Given the description of an element on the screen output the (x, y) to click on. 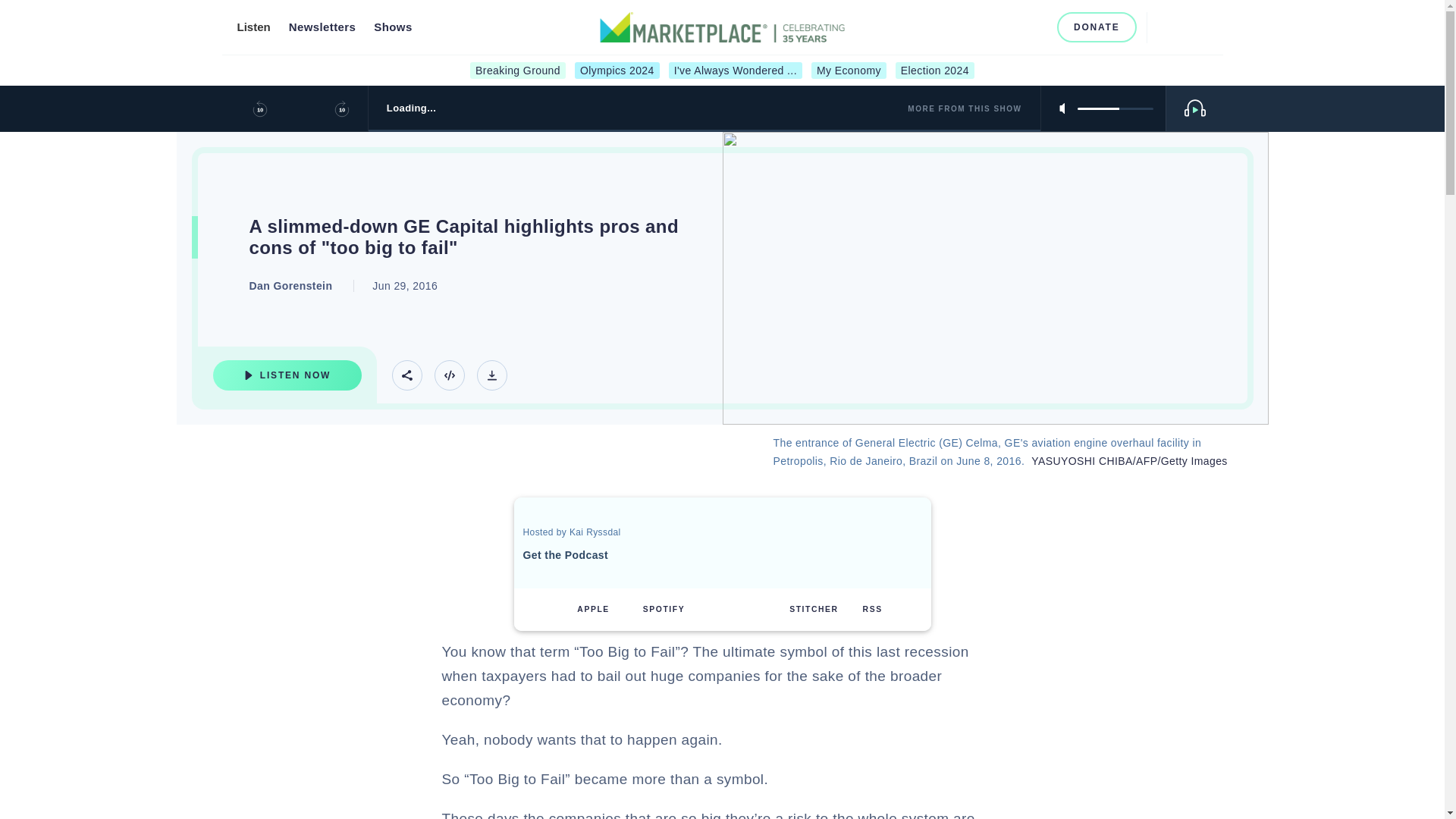
TikTok (1035, 27)
Listen (252, 26)
Download Track (491, 374)
Search (1164, 27)
Listen Now (286, 374)
Newsletters (322, 27)
Youtube (1011, 27)
Instagram (985, 27)
5 (1115, 108)
